Given the description of an element on the screen output the (x, y) to click on. 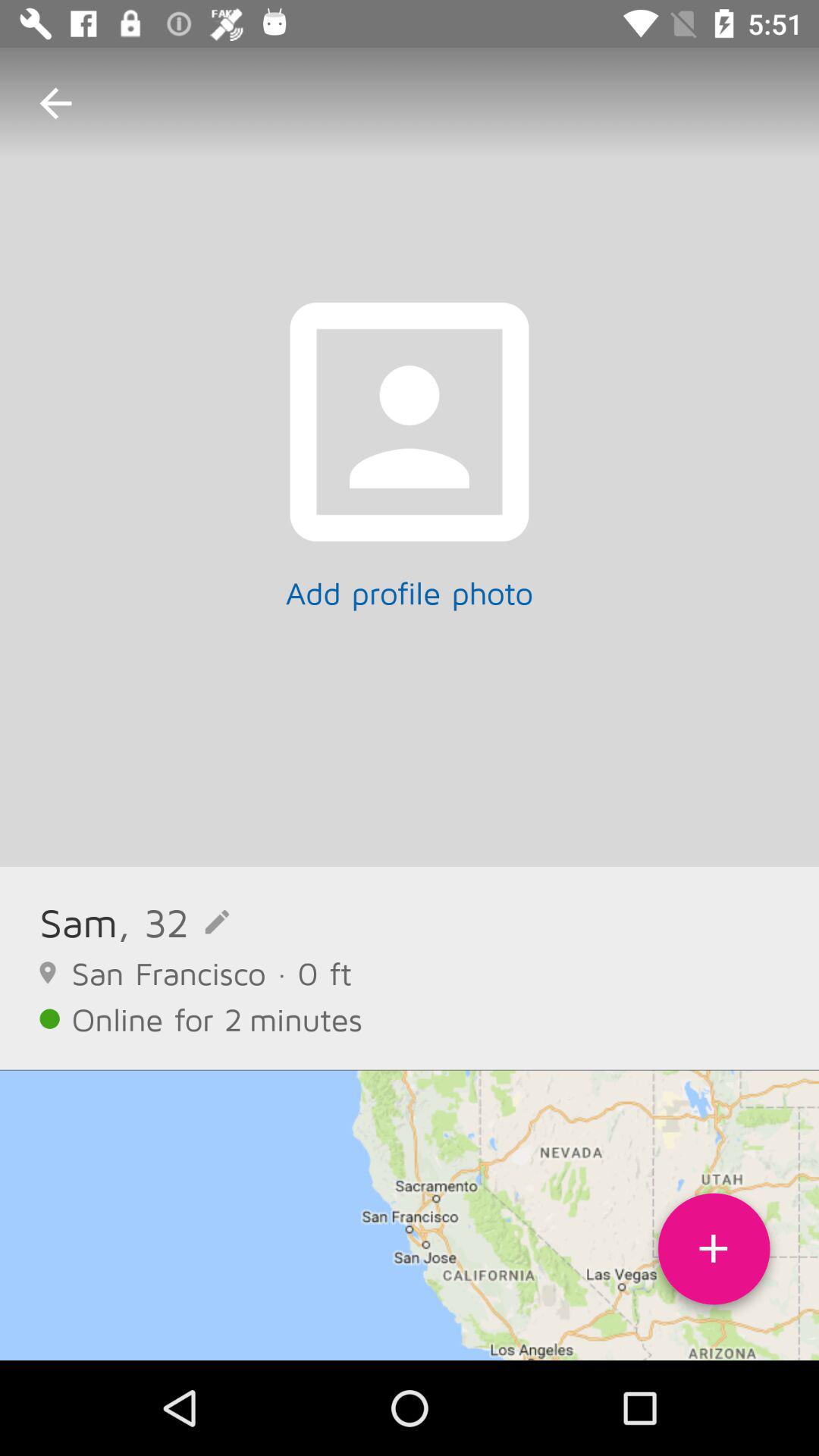
tap the icon above the san francisco 0 icon (78, 921)
